Given the description of an element on the screen output the (x, y) to click on. 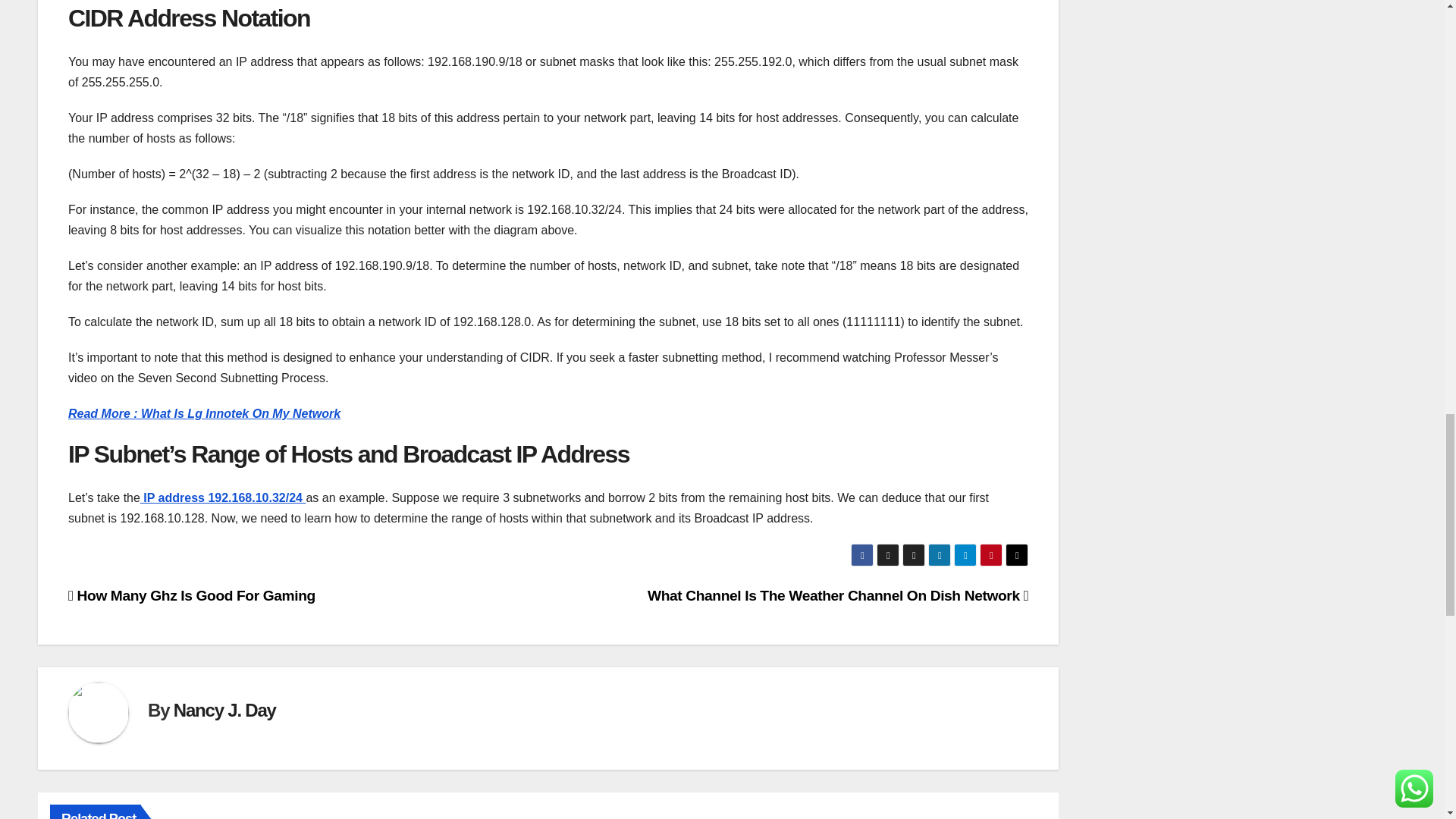
Read More : What Is Lg Innotek On My Network (204, 413)
